Given the description of an element on the screen output the (x, y) to click on. 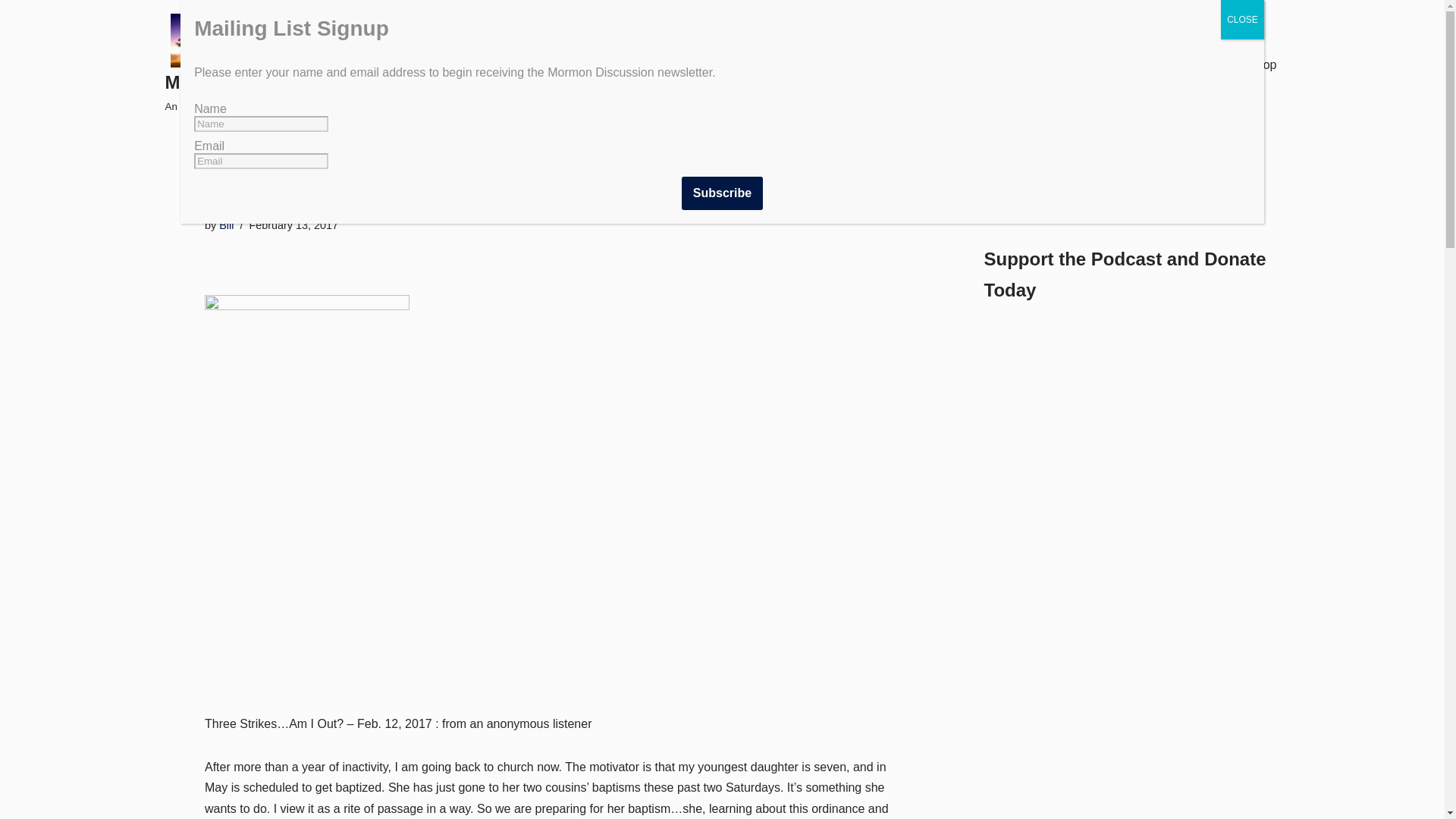
Donate (1051, 64)
Skip to content (303, 64)
About (11, 31)
Mormon Discussions (886, 64)
CLOSE (792, 64)
Gift Shop (1242, 19)
Home (1250, 64)
Posts by Bill (699, 64)
Youtube (225, 224)
Subscribe (1118, 194)
Facebook (721, 192)
Bill (1029, 194)
Episode Archive (225, 224)
Facebook (966, 64)
